Given the description of an element on the screen output the (x, y) to click on. 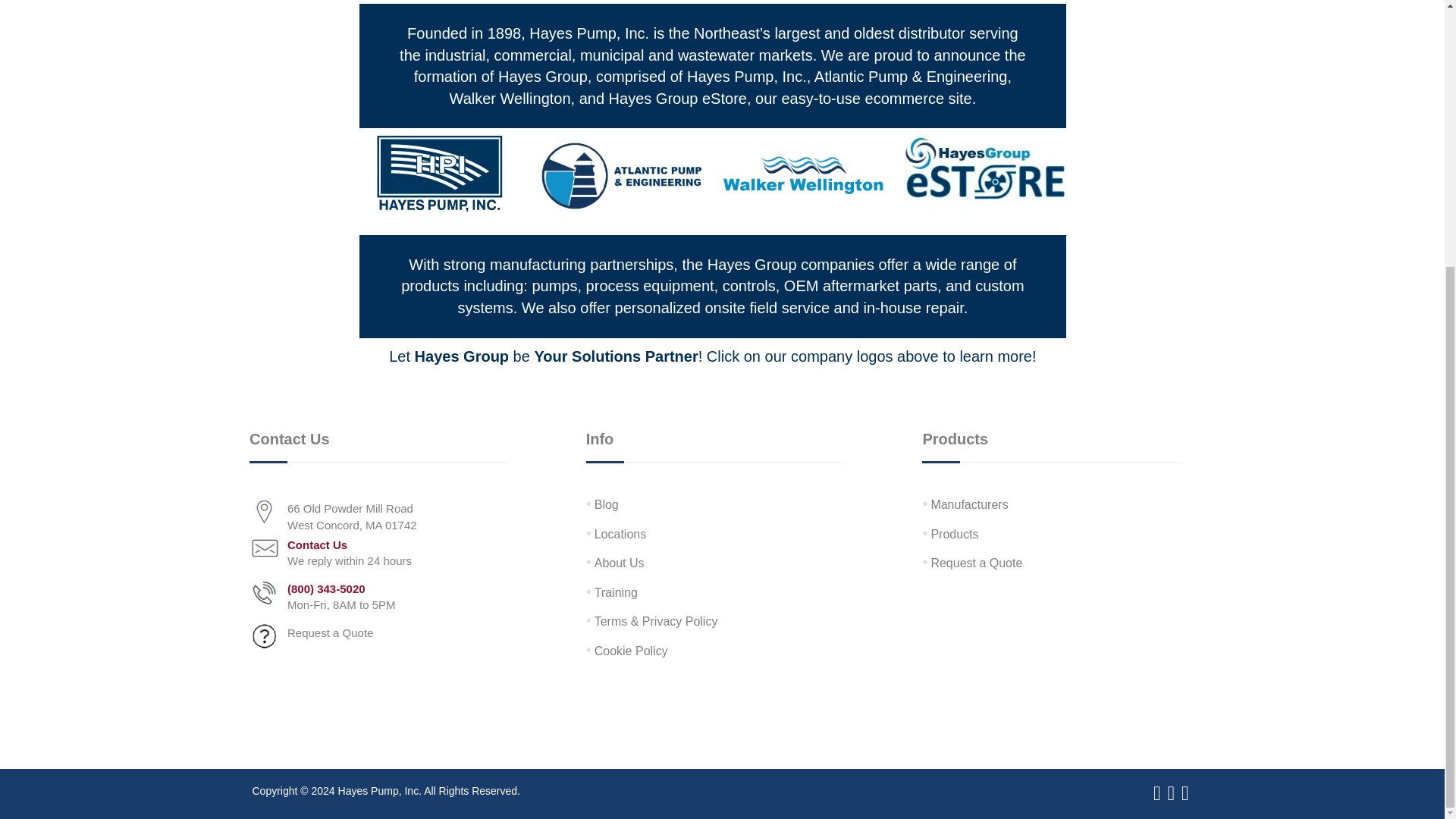
Call Hayes Pump (322, 598)
